Given the description of an element on the screen output the (x, y) to click on. 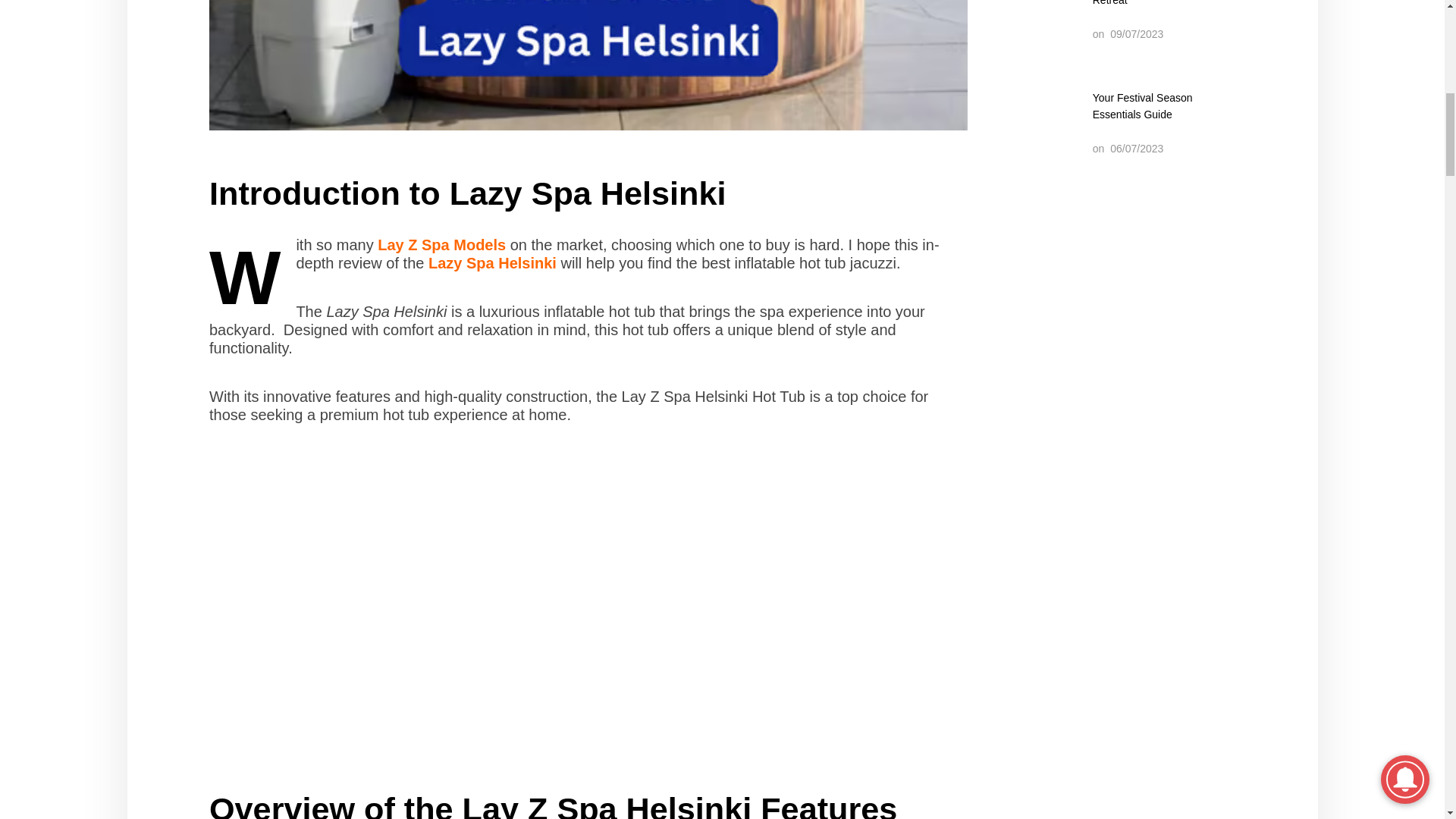
In-depth Review of The Lazy Spa Helsinki (588, 65)
